Given the description of an element on the screen output the (x, y) to click on. 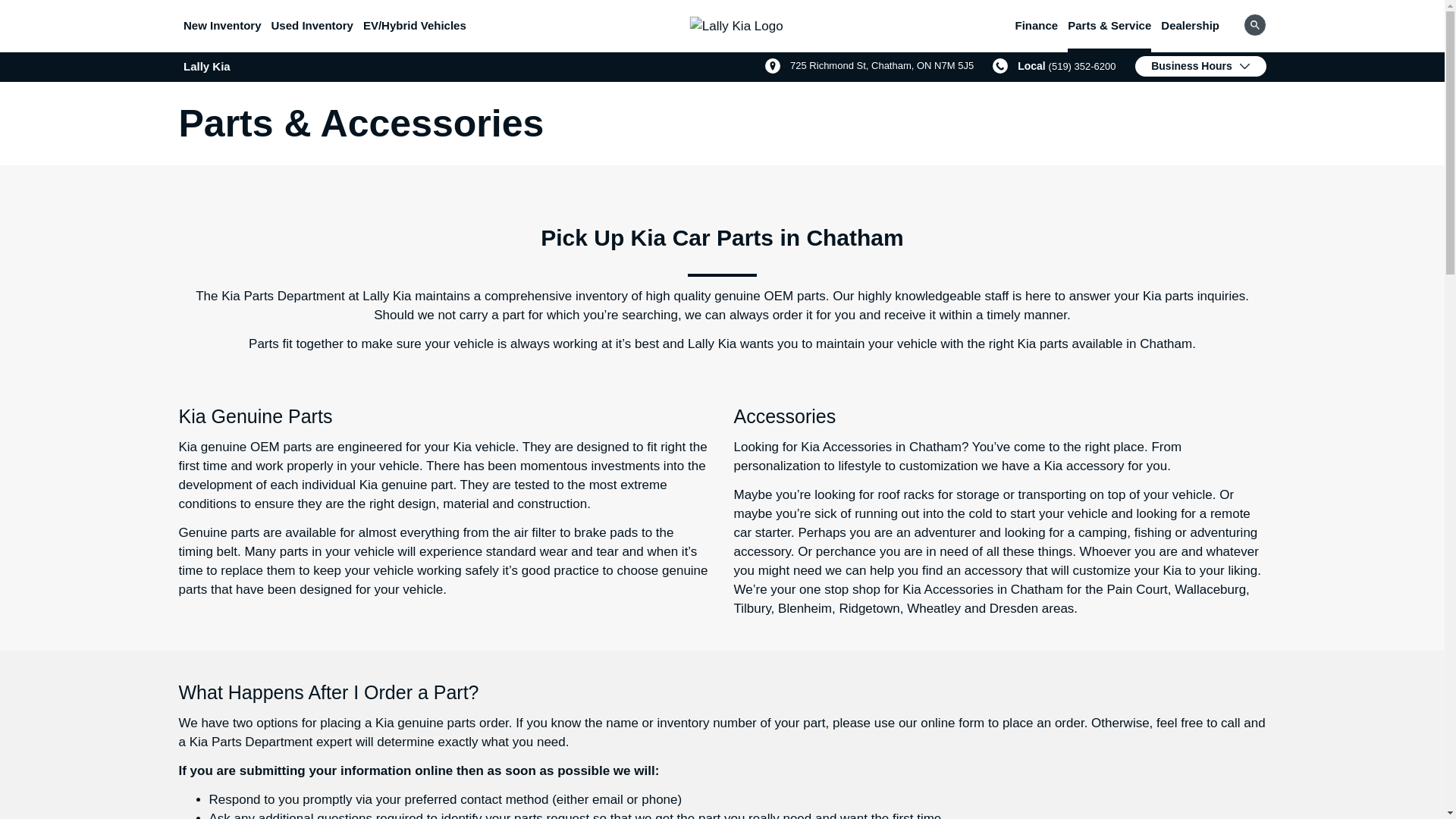
Used Inventory (311, 26)
New Inventory (869, 65)
Dealership (222, 26)
